Given the description of an element on the screen output the (x, y) to click on. 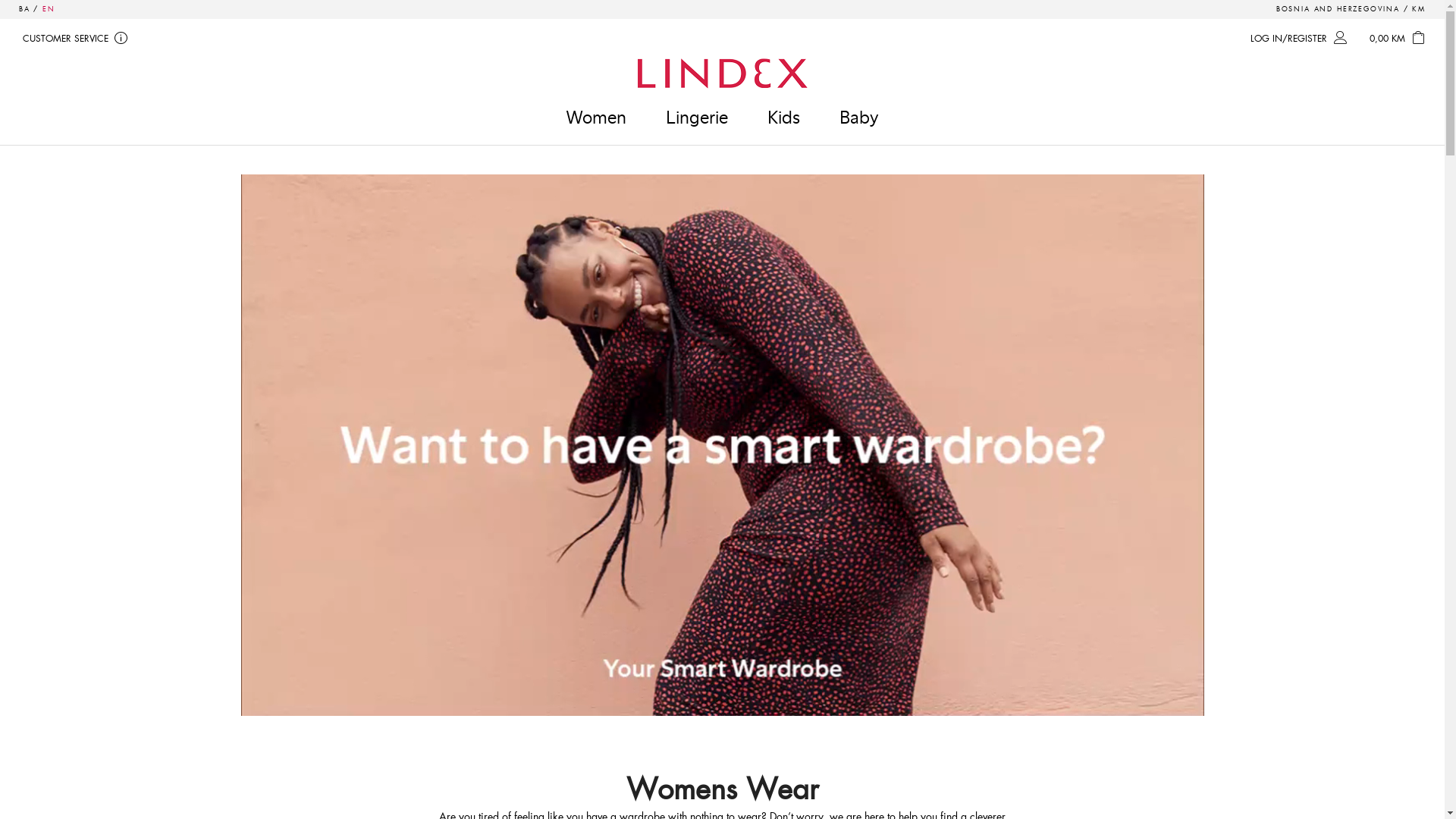
Baby Element type: text (859, 117)
Lingerie Element type: text (696, 117)
CUSTOMER SERVICE Element type: text (77, 39)
Kids Element type: text (783, 117)
EN Element type: text (48, 8)
BA Element type: text (24, 8)
0,00 KM Element type: text (1400, 39)
LOG IN/REGISTER Element type: text (1301, 39)
Women Element type: text (595, 117)
